Given the description of an element on the screen output the (x, y) to click on. 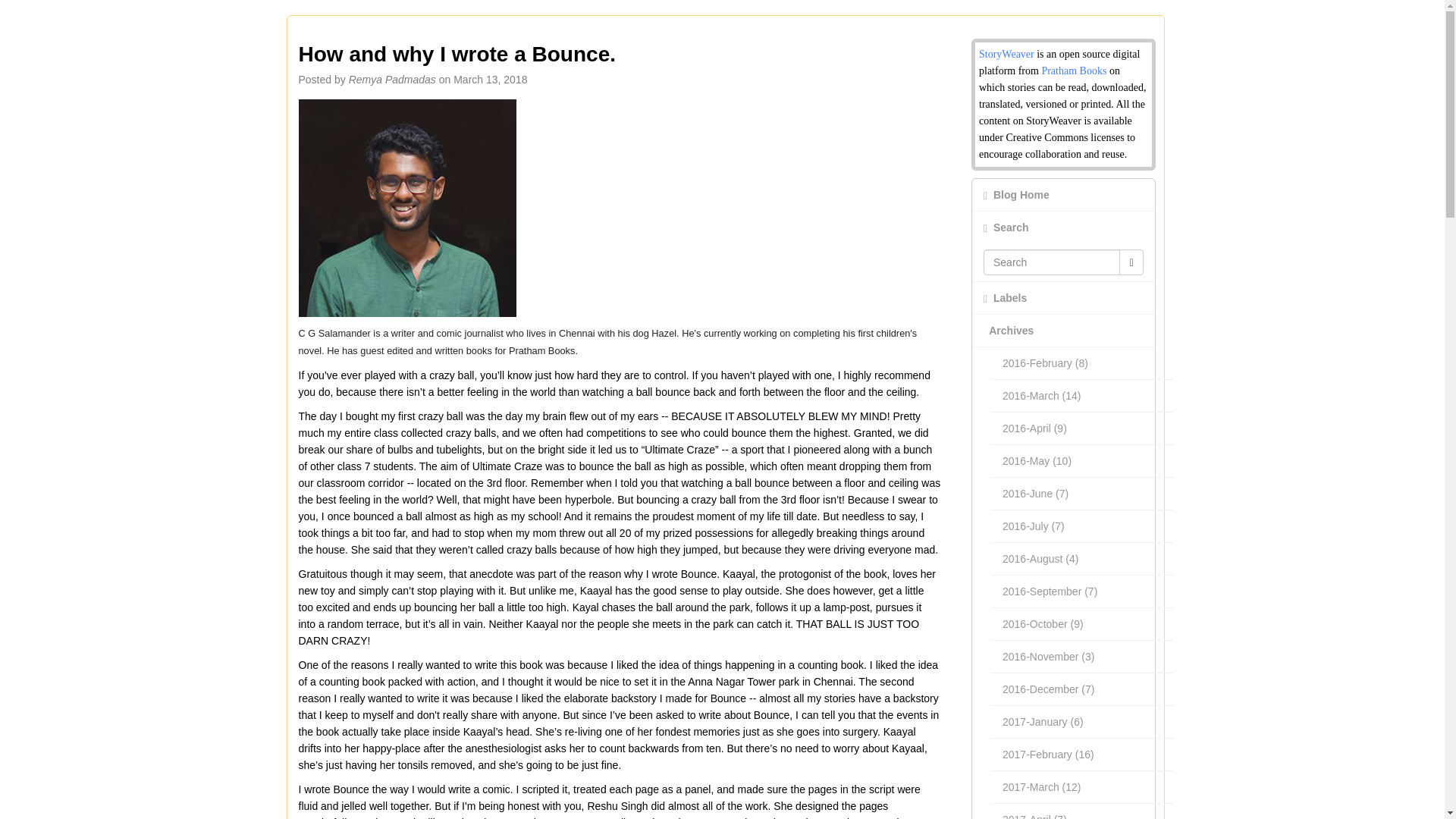
  Search (1063, 227)
Pratham Books (1073, 70)
  Labels (1063, 297)
  Blog Home (1063, 194)
StoryWeaver (1007, 53)
